Given the description of an element on the screen output the (x, y) to click on. 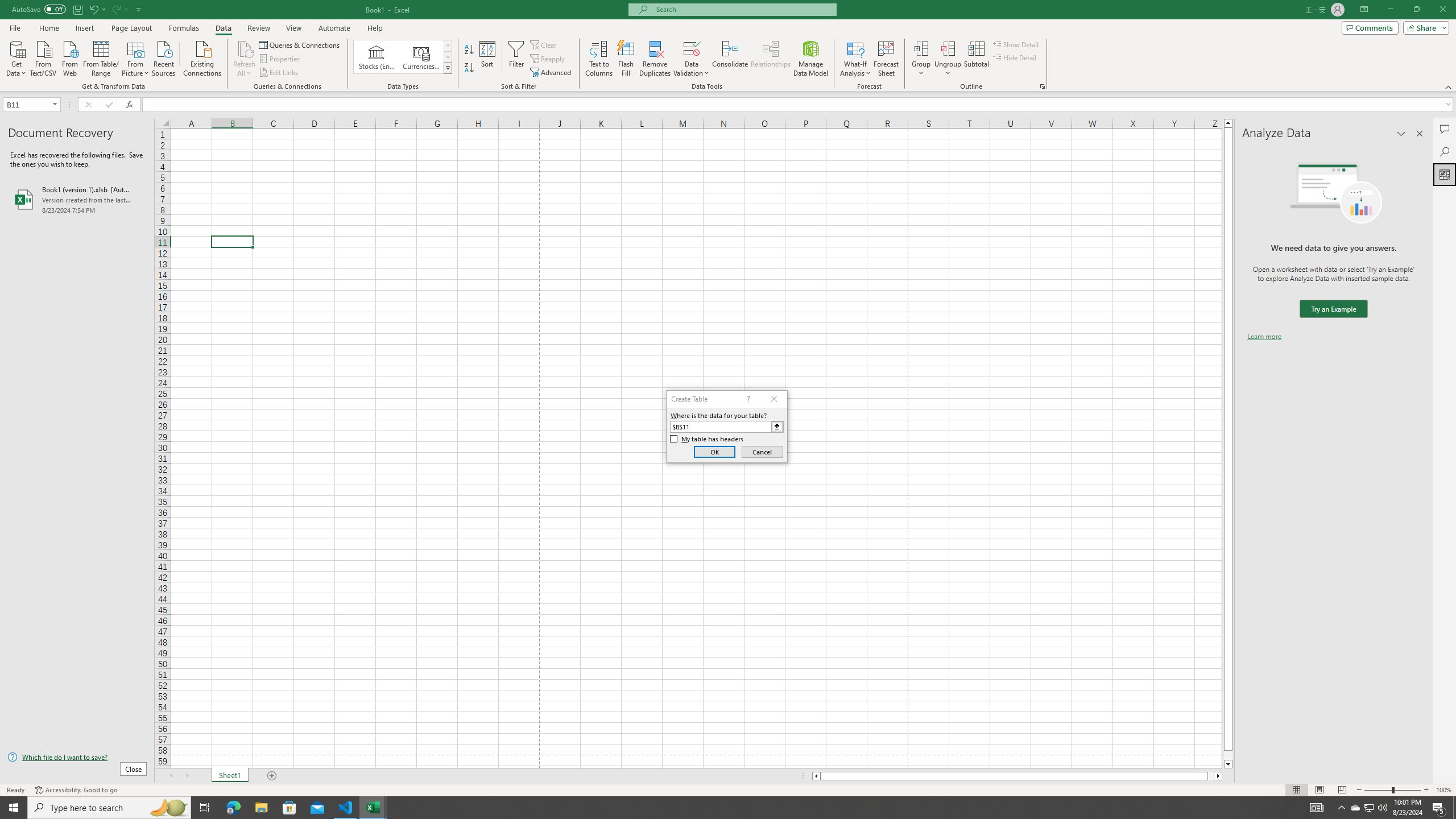
Reapply (548, 58)
What-If Analysis (855, 58)
Refresh All (244, 48)
Sort A to Z (469, 49)
Row Down (448, 56)
Subtotal (976, 58)
